Given the description of an element on the screen output the (x, y) to click on. 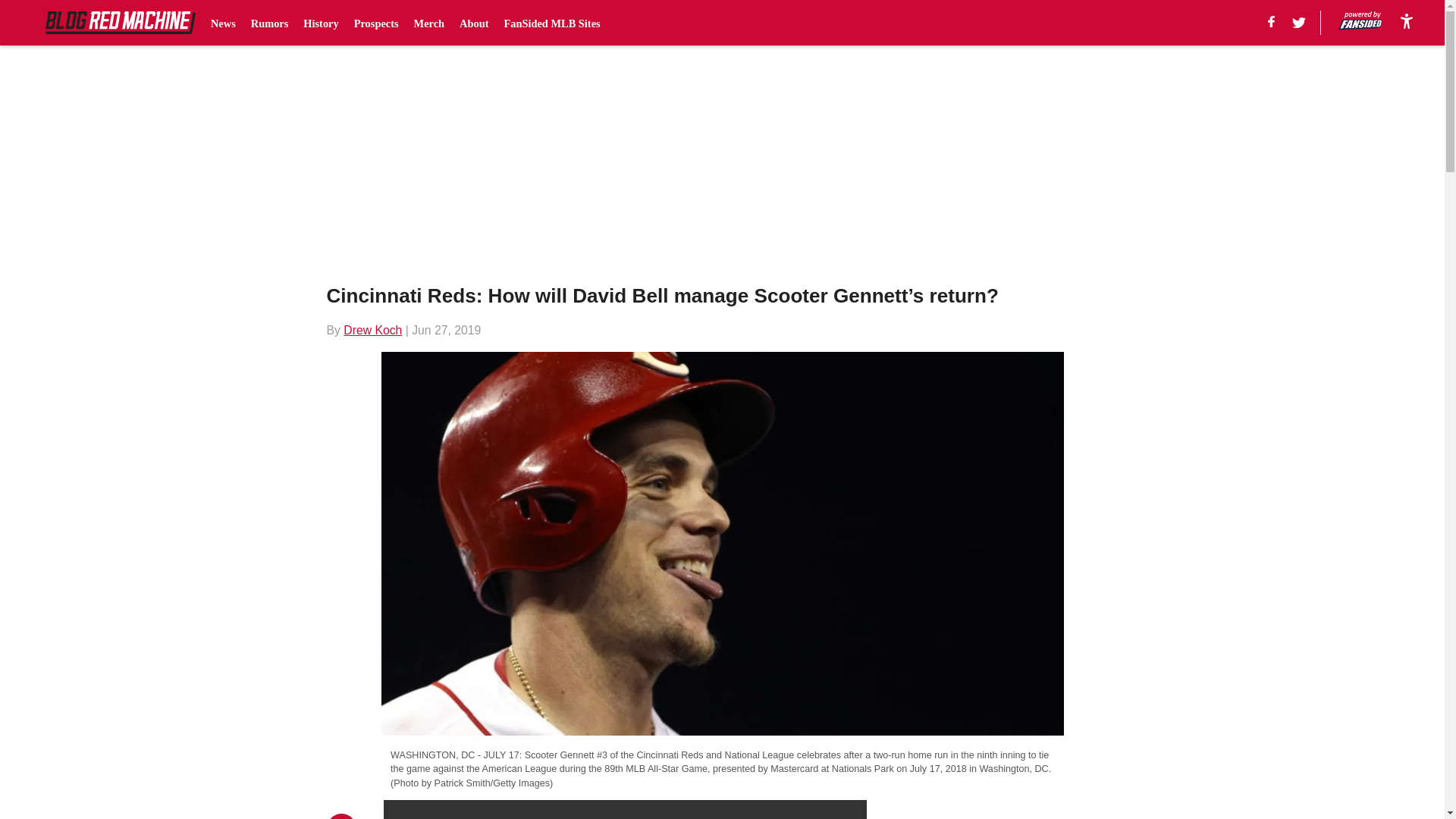
3rd party ad content (1005, 809)
FanSided MLB Sites (551, 23)
History (319, 23)
Drew Koch (372, 329)
News (223, 23)
Prospects (375, 23)
Rumors (269, 23)
Merch (429, 23)
About (473, 23)
